Given the description of an element on the screen output the (x, y) to click on. 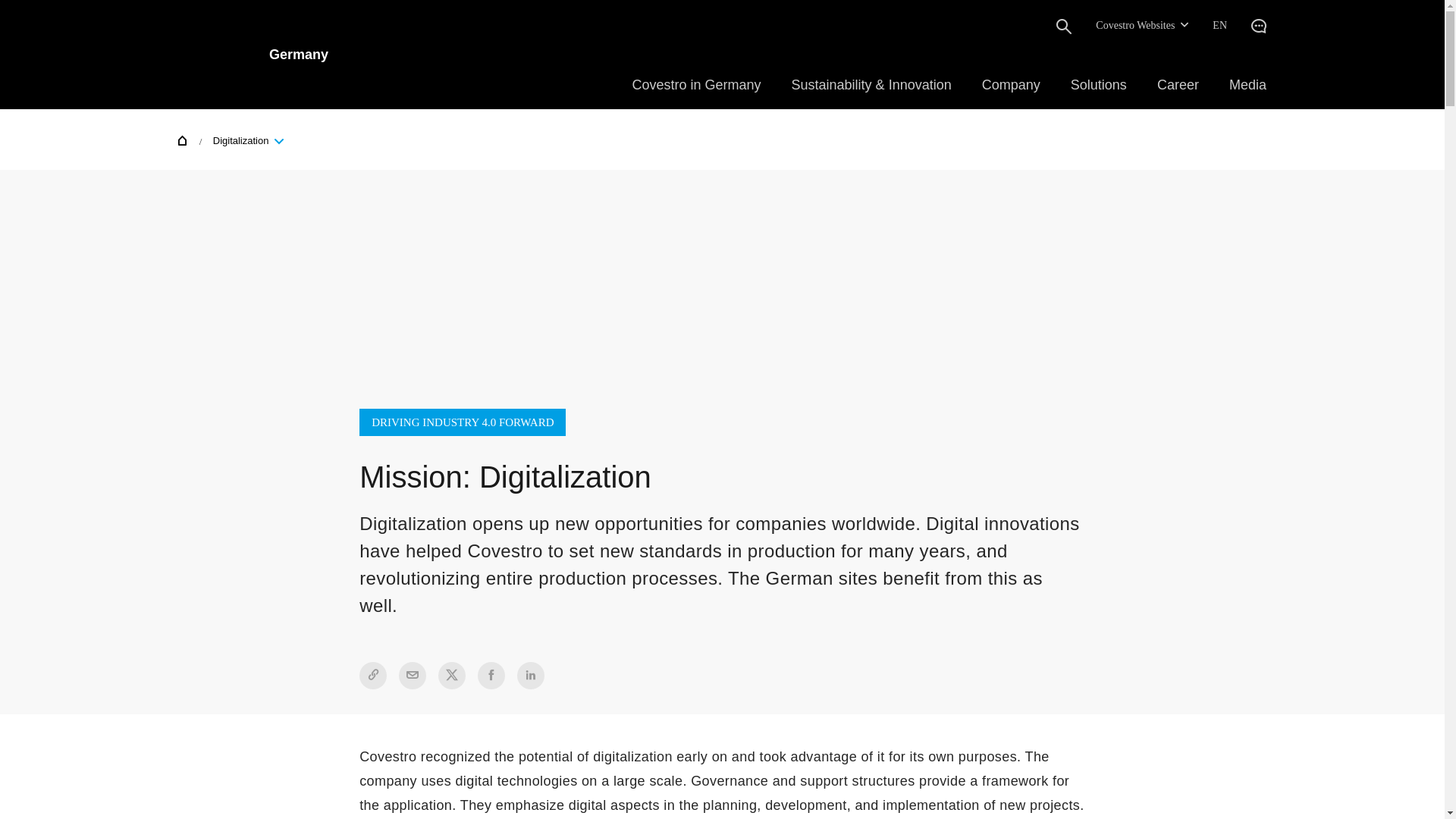
Digitalization (245, 140)
Company (1011, 85)
Covestro in Germany (696, 85)
Home Digitalization (234, 138)
Solutions (1098, 85)
Germany (253, 54)
